Given the description of an element on the screen output the (x, y) to click on. 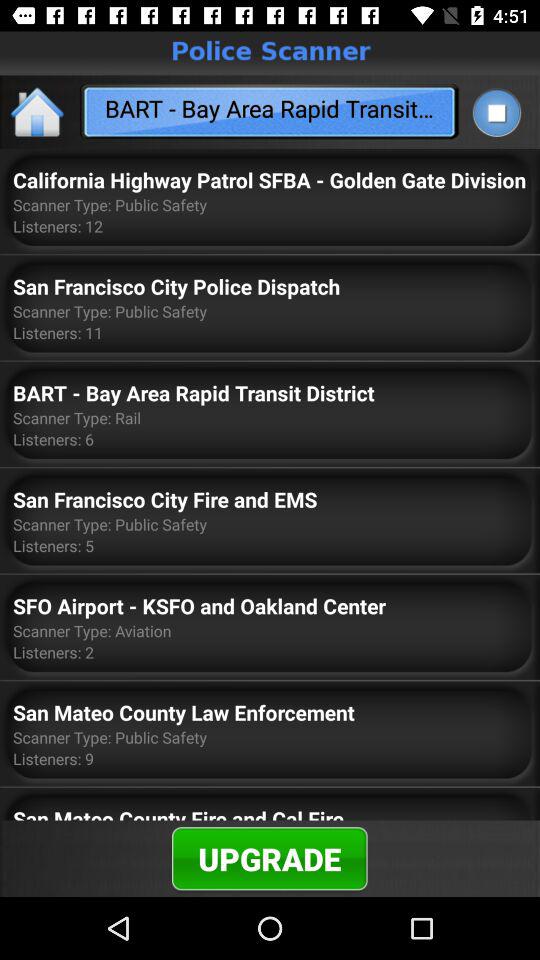
choose the california highway patrol item (269, 179)
